Given the description of an element on the screen output the (x, y) to click on. 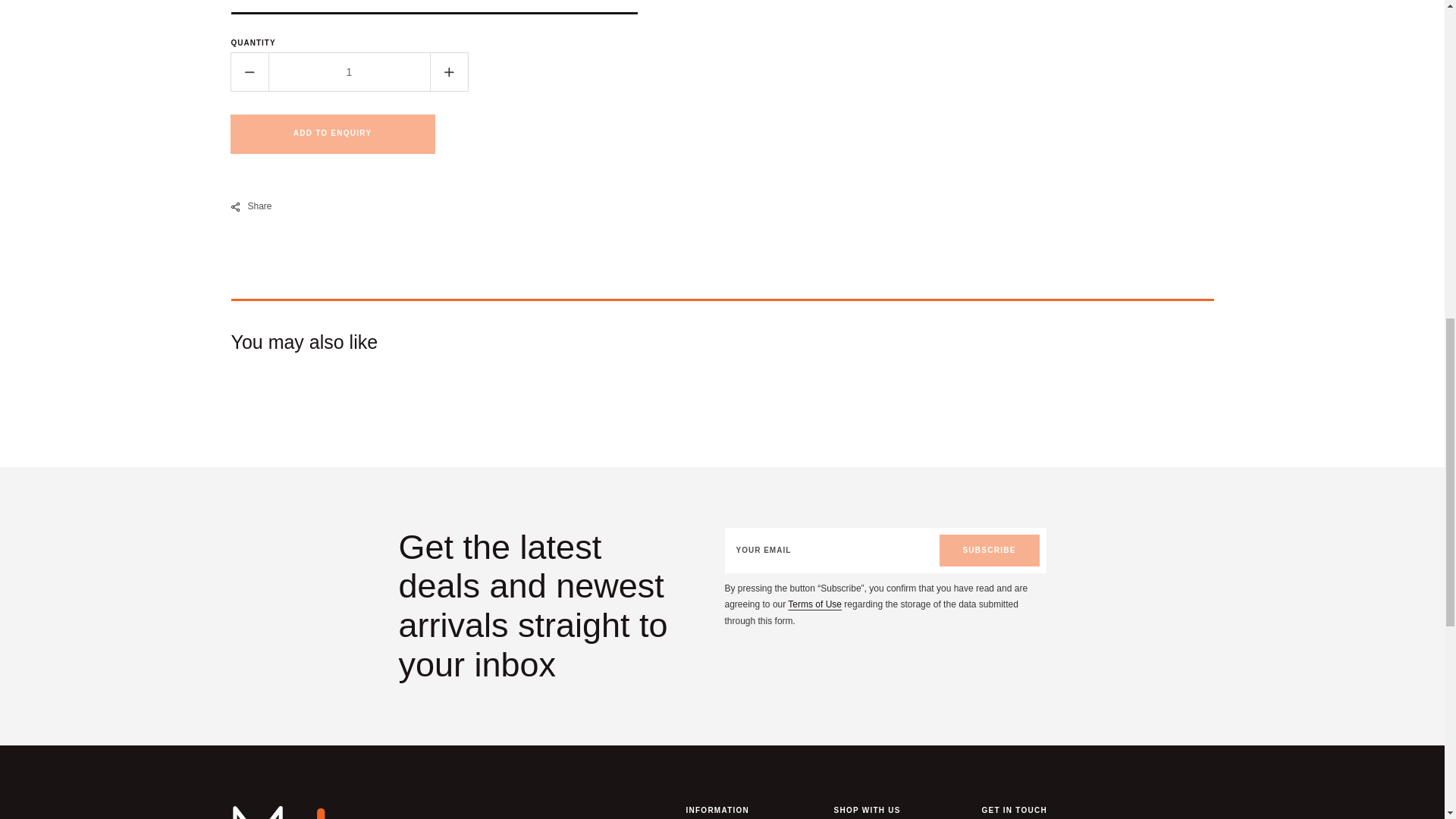
All products (814, 603)
1 (348, 71)
